Given the description of an element on the screen output the (x, y) to click on. 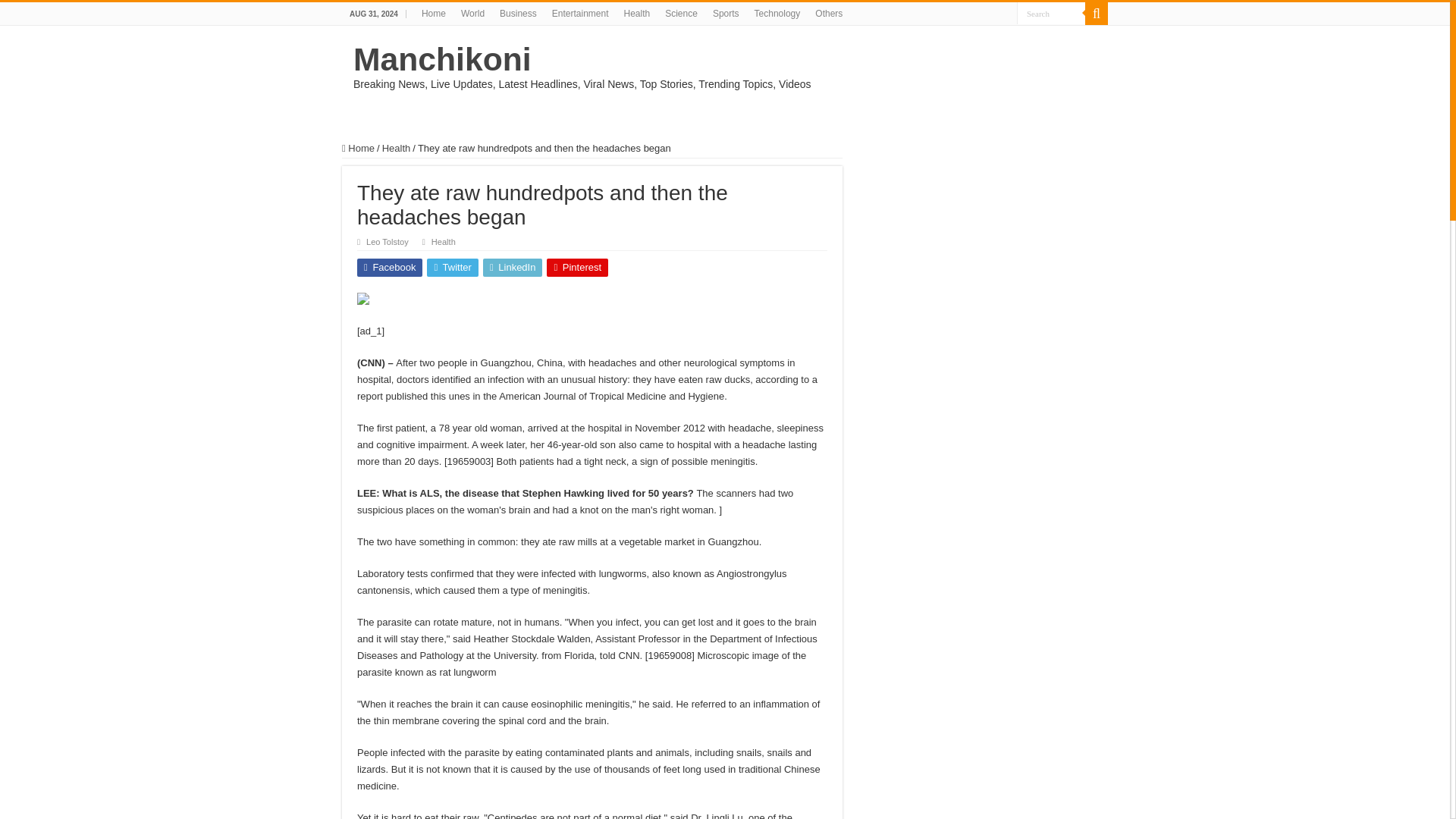
Search (1050, 13)
LinkedIn (513, 267)
World (472, 13)
Leo Tolstoy (387, 241)
Health (636, 13)
Home (432, 13)
Technology (777, 13)
Search (1050, 13)
Business (518, 13)
Others (829, 13)
